Given the description of an element on the screen output the (x, y) to click on. 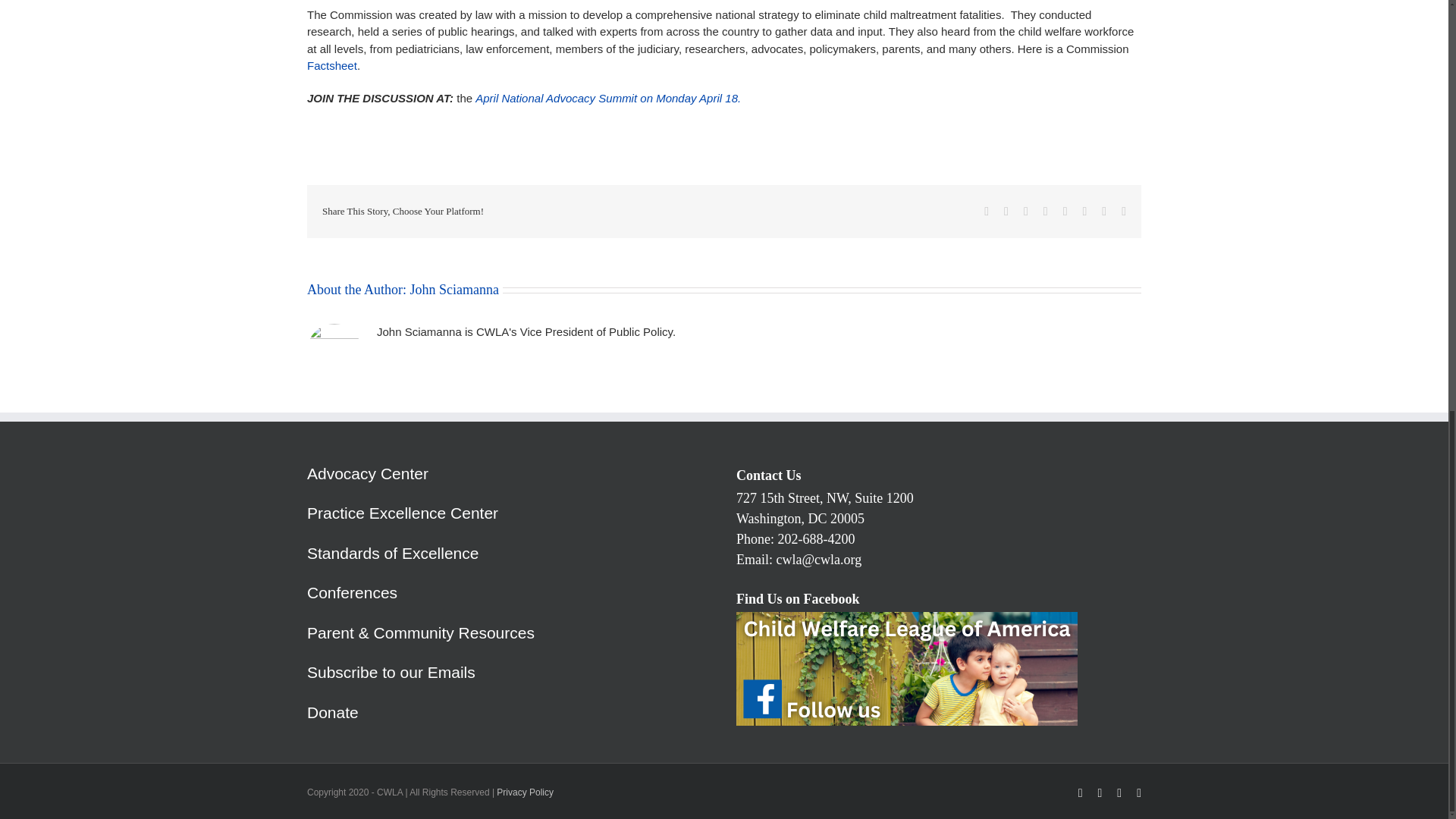
Posts by John Sciamanna (453, 289)
